Given the description of an element on the screen output the (x, y) to click on. 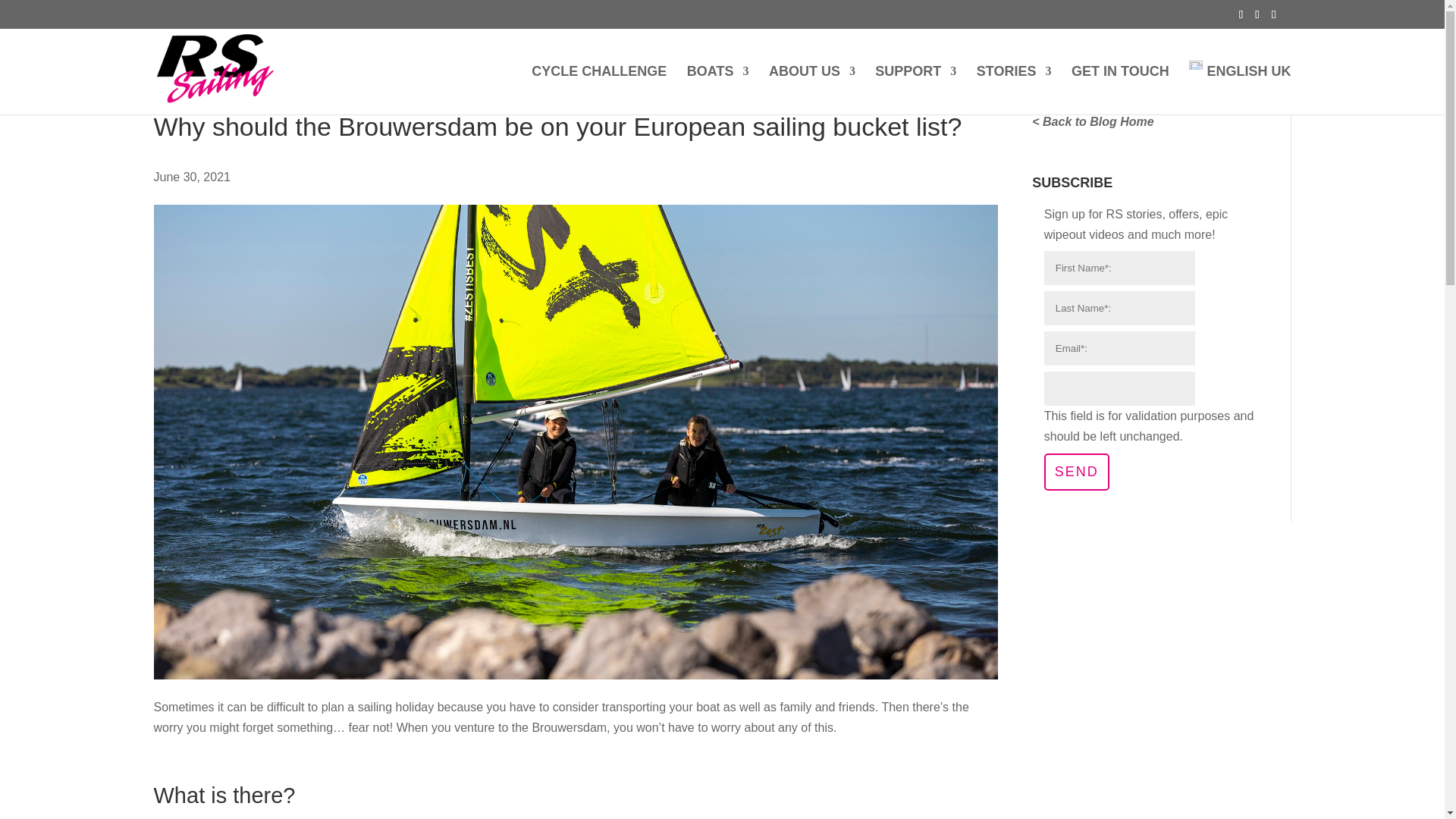
BOATS (718, 90)
SEND (1076, 471)
English UK (1239, 87)
CYCLE CHALLENGE (598, 90)
